Given the description of an element on the screen output the (x, y) to click on. 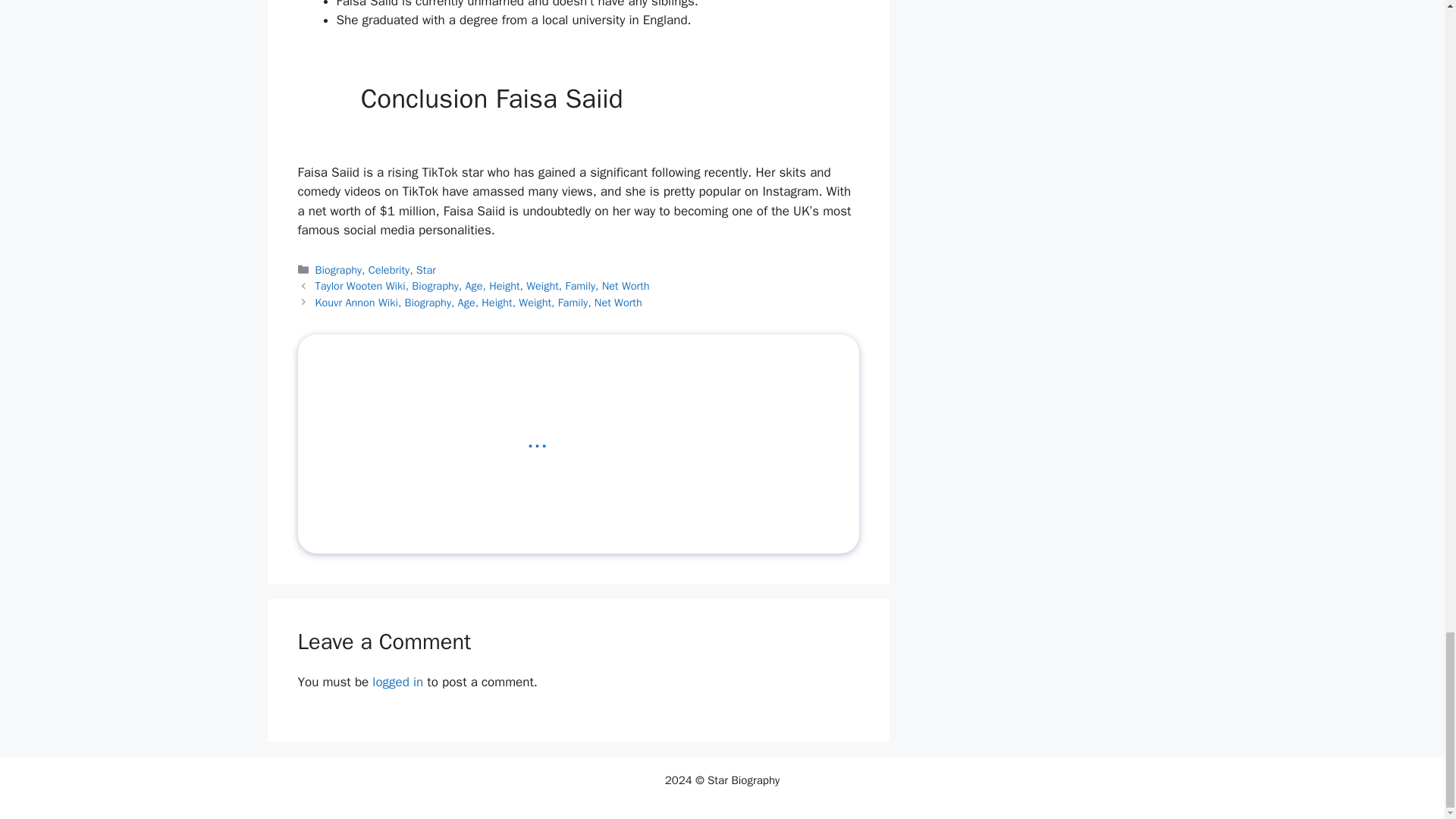
Star (425, 269)
logged in (397, 682)
Biography (338, 269)
Celebrity (388, 269)
